Given the description of an element on the screen output the (x, y) to click on. 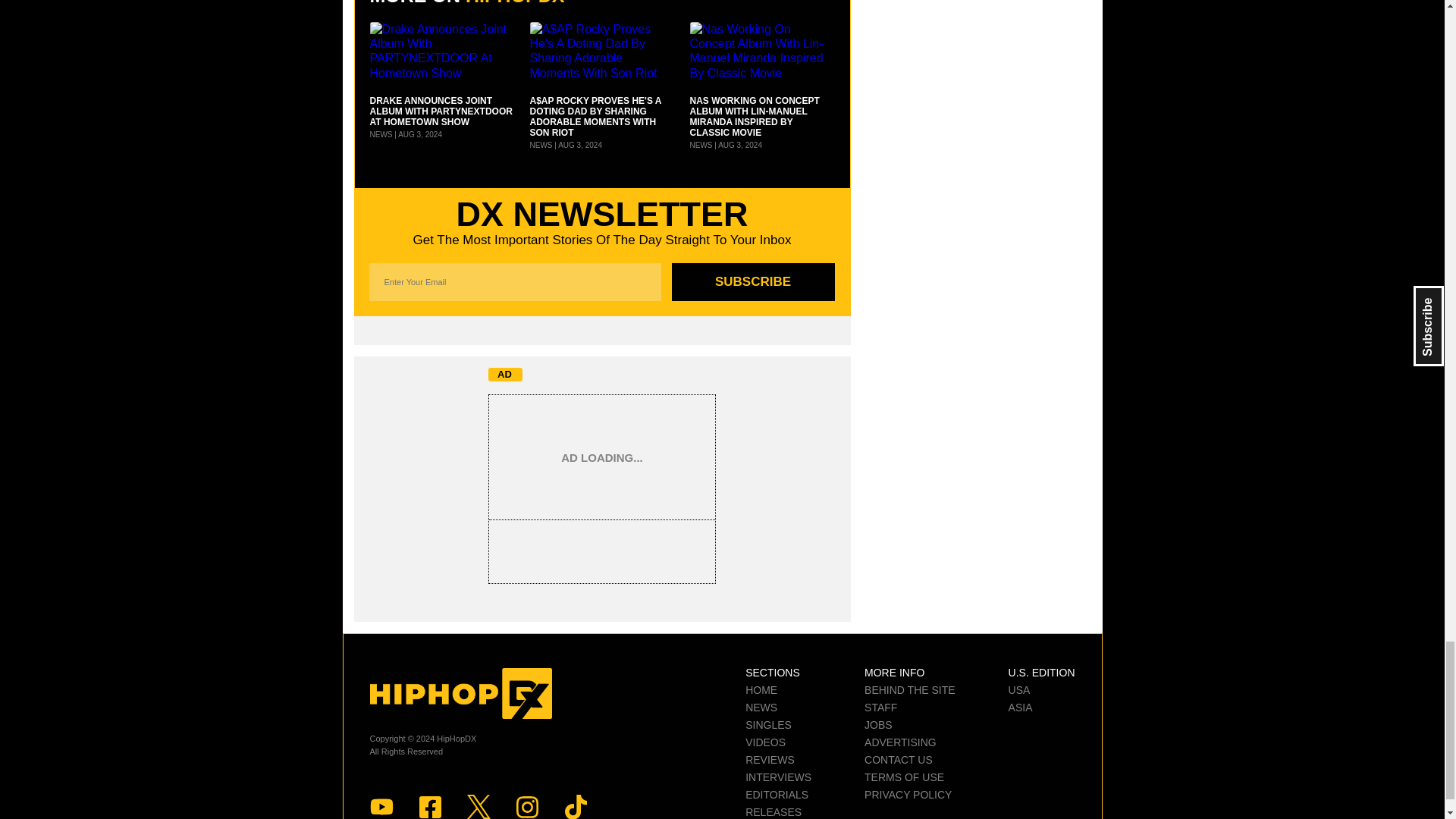
HipHopDX (460, 693)
